Given the description of an element on the screen output the (x, y) to click on. 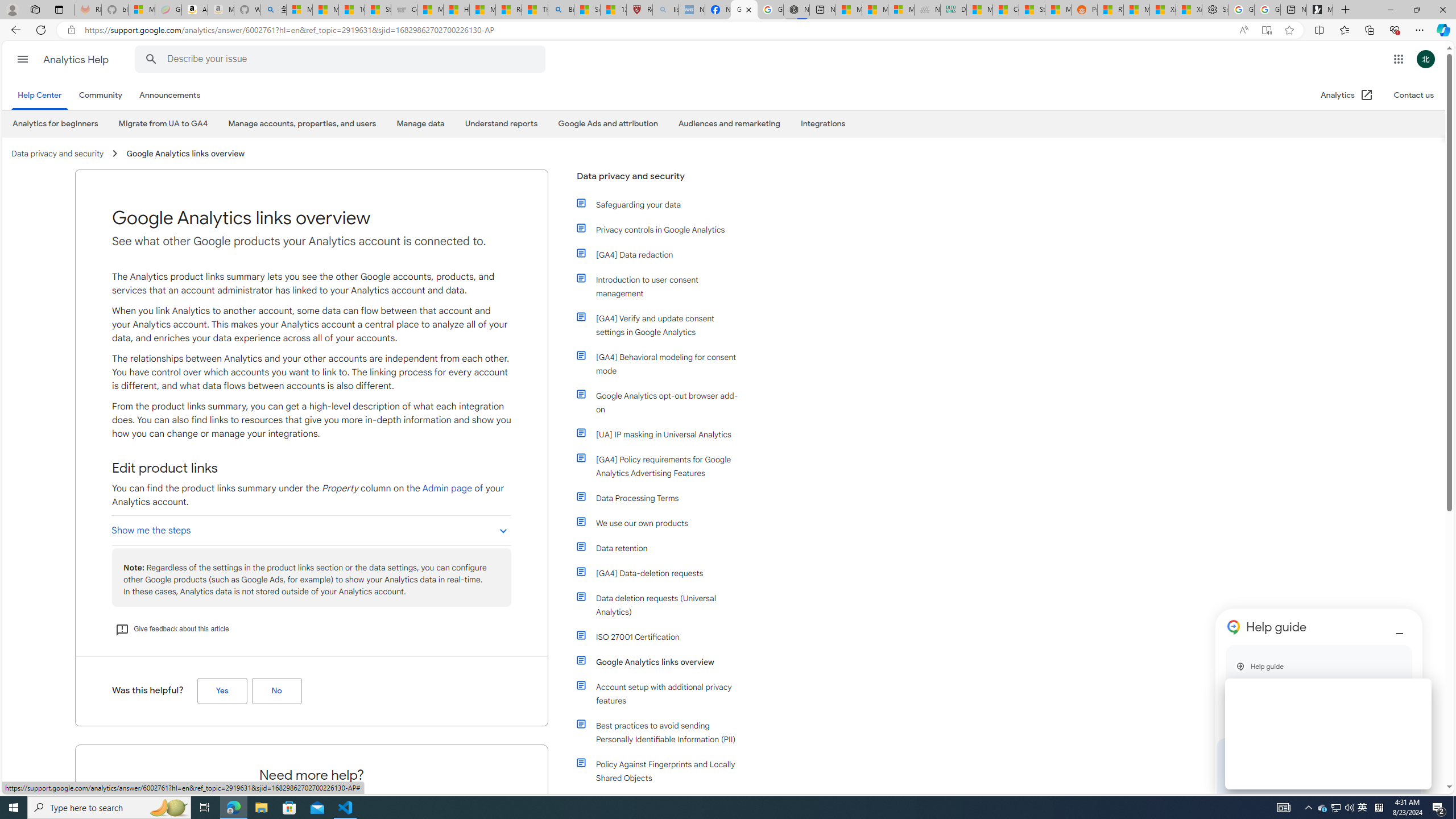
[UA] IP masking in Universal Analytics (664, 434)
Microsoft-Report a Concern to Bing (141, 9)
Bing (561, 9)
Understand reports (501, 123)
Search Help Center (151, 58)
Recipes - MSN (508, 9)
Announcements (171, 95)
MSN (1057, 9)
Account setup with additional privacy features (658, 693)
